Given the description of an element on the screen output the (x, y) to click on. 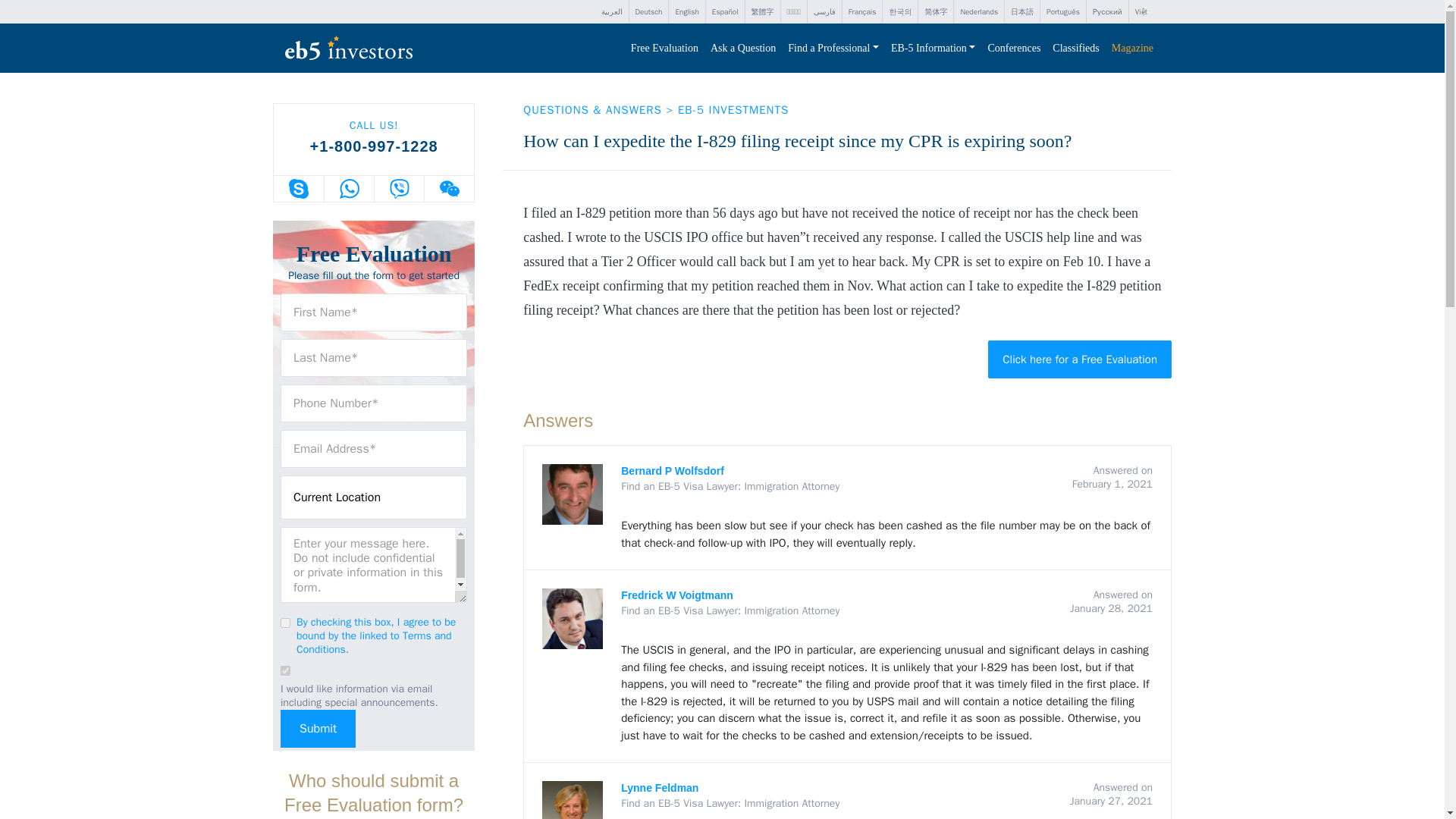
Free Evaluation (664, 48)
Find a Professional (833, 48)
Find a Professional (833, 48)
Nederlands (978, 11)
EB-5 Information (933, 48)
Free Evaluation (664, 48)
Deutsch (648, 11)
English (686, 11)
1 (285, 623)
